Given the description of an element on the screen output the (x, y) to click on. 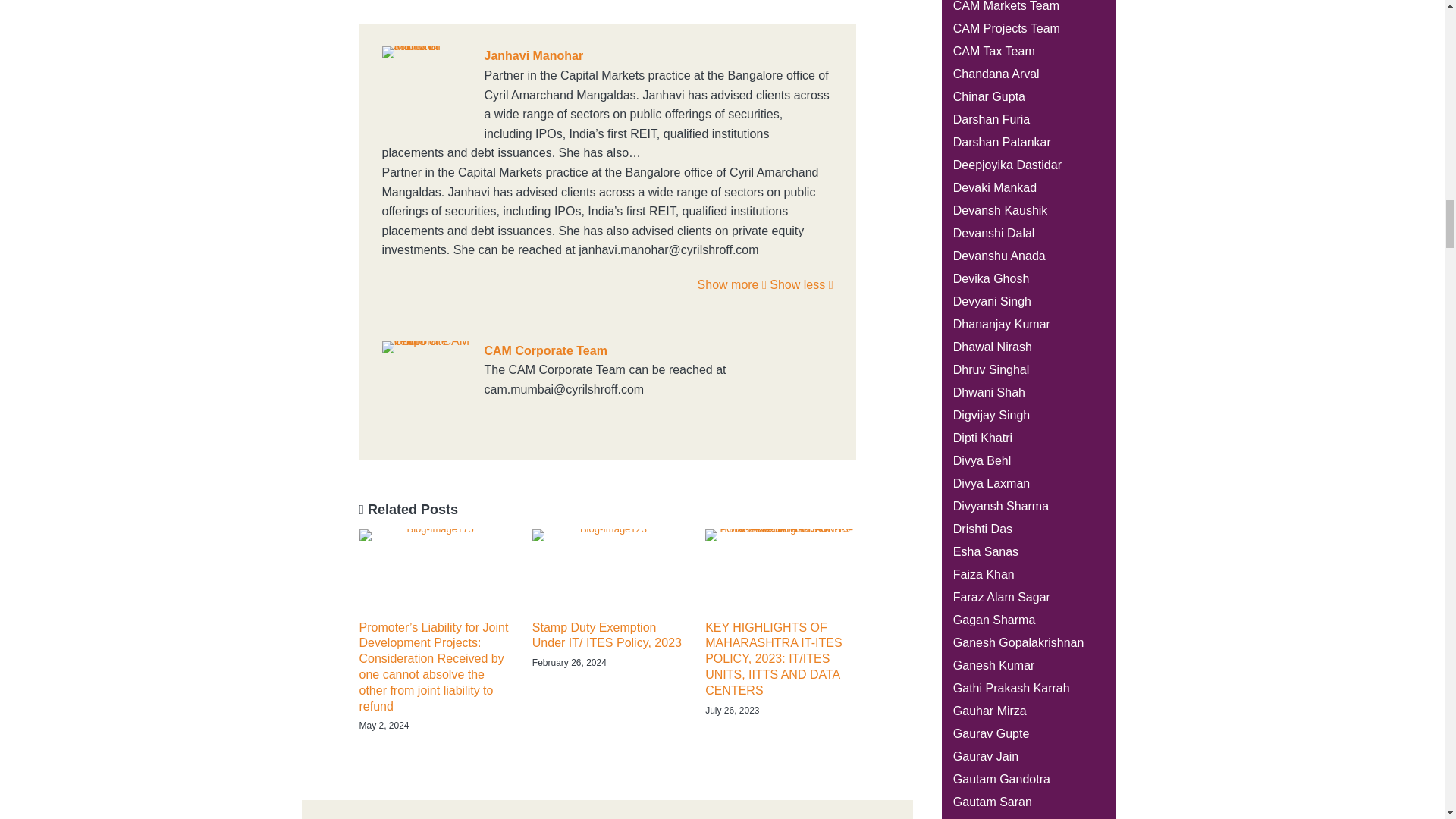
Janhavi Manohar (606, 55)
Show more (732, 284)
Show less (801, 284)
CAM Corporate Team (606, 351)
